Given the description of an element on the screen output the (x, y) to click on. 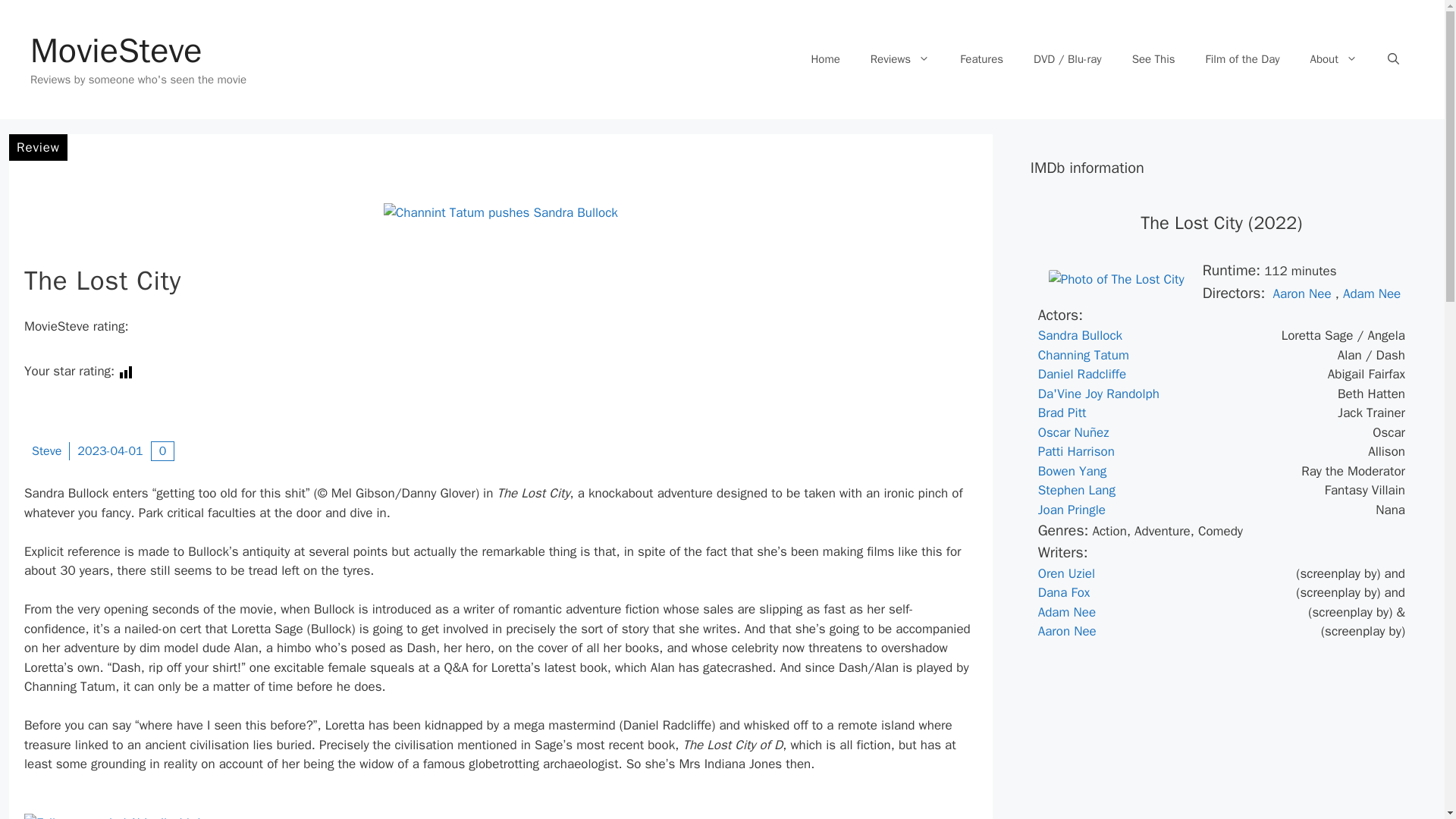
open a new window with IMDb informations (1076, 451)
Film of the Day (1243, 58)
open a new window with IMDb informations (1067, 611)
Aaron Nee (1301, 293)
Channing Tatum (1083, 355)
open a new window with IMDb informations (1076, 489)
Sandra Bullock (1080, 335)
open a new window with IMDb informations (1066, 573)
Home (824, 58)
About (1334, 58)
open a new window with IMDb informations (1072, 471)
open a new window with IMDb informations (1073, 432)
Daniel Radcliffe (1081, 374)
open a new window with IMDb informations (1301, 293)
Steve (46, 450)
